Given the description of an element on the screen output the (x, y) to click on. 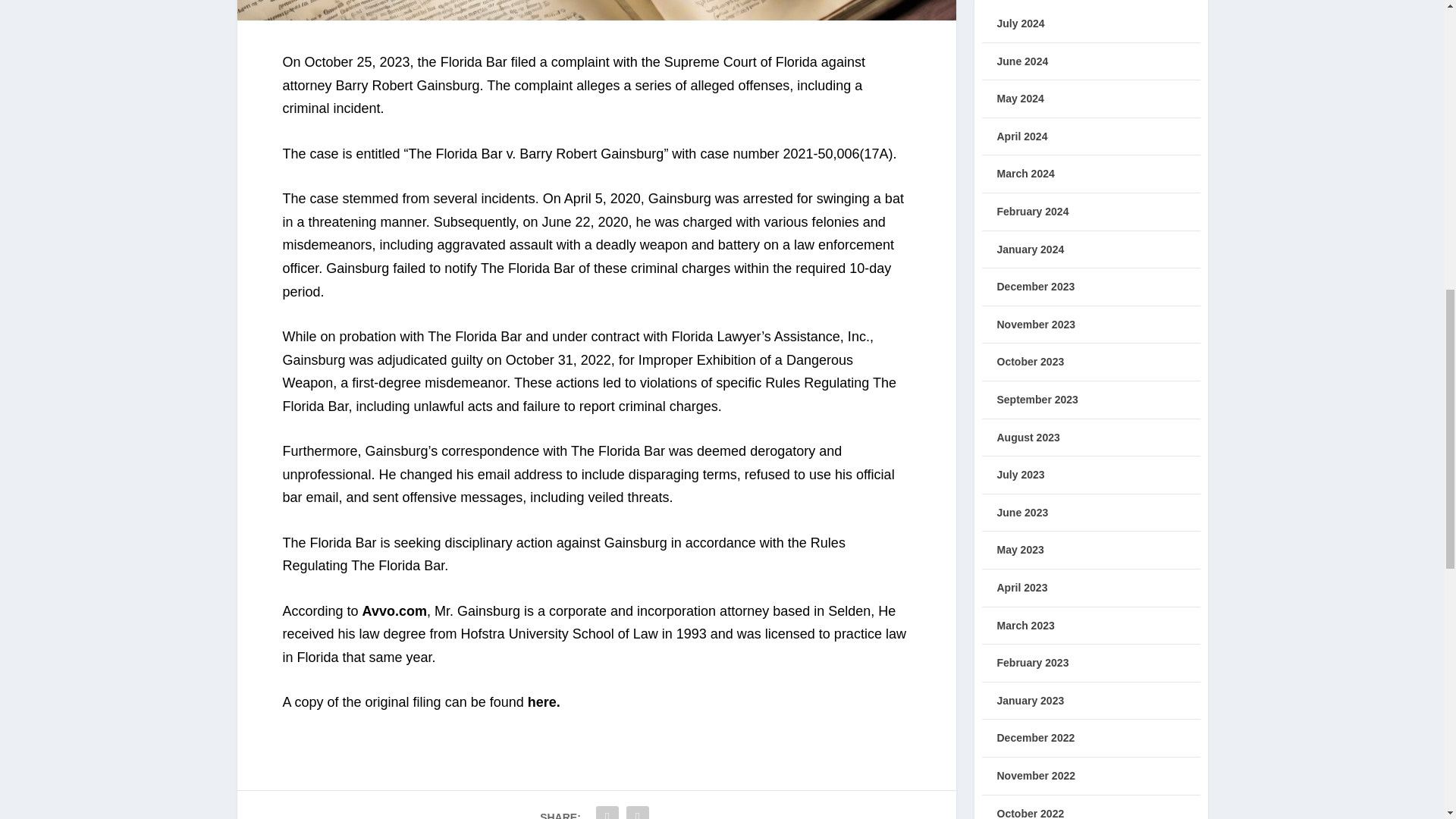
here. (543, 702)
Avvo.com (394, 611)
